Given the description of an element on the screen output the (x, y) to click on. 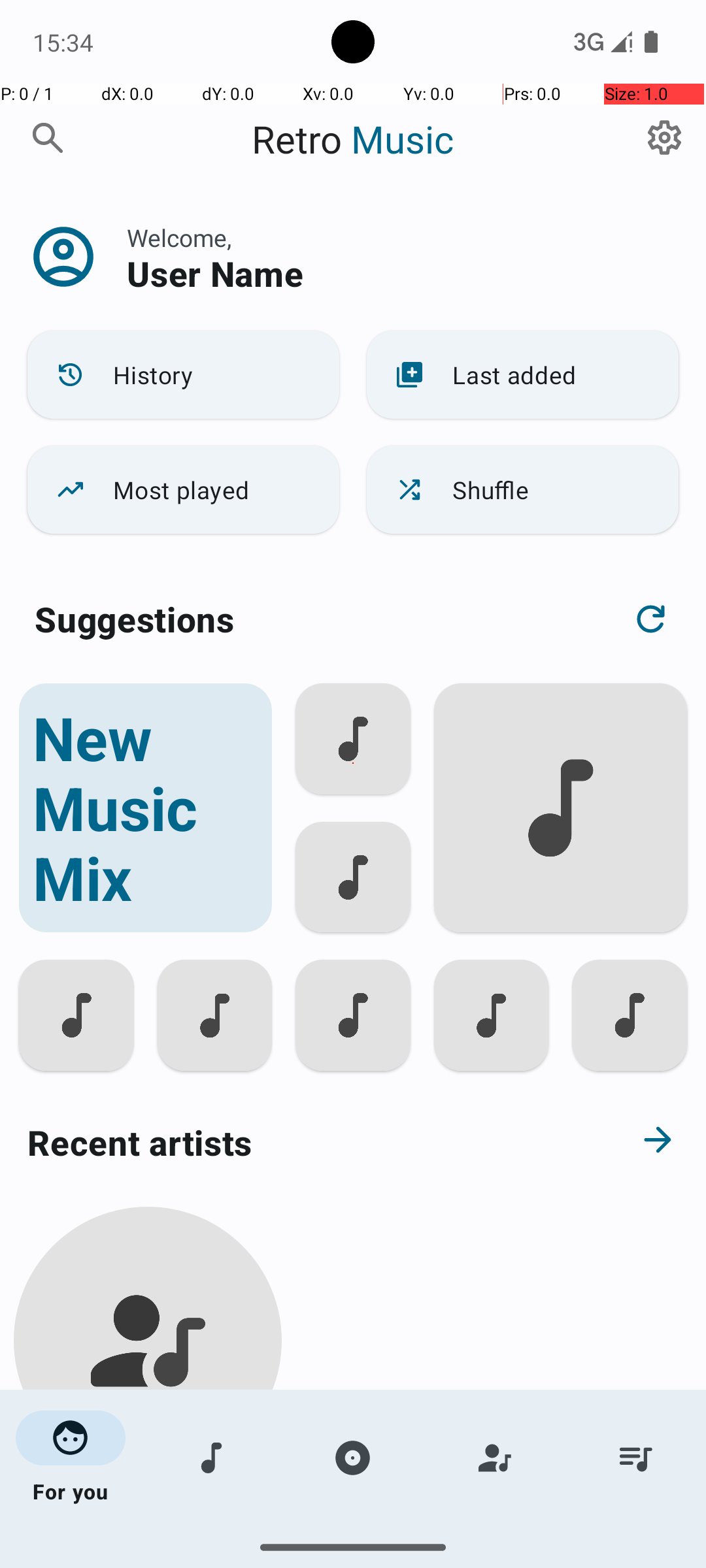
Retro Music Element type: android.widget.TextView (352, 138)
For you Element type: android.widget.FrameLayout (70, 1457)
Welcome, Element type: android.widget.TextView (179, 237)
User Name Element type: android.widget.TextView (214, 273)
Last added Element type: android.widget.Button (522, 374)
Most played Element type: android.widget.Button (183, 489)
Suggestions Element type: android.widget.TextView (134, 618)
New Music Mix Element type: android.widget.TextView (144, 807)
Recent artists Element type: android.widget.TextView (304, 1141)
Recent albums Element type: android.widget.TextView (304, 1557)
Mia Element type: android.widget.TextView (147, 1503)
